Given the description of an element on the screen output the (x, y) to click on. 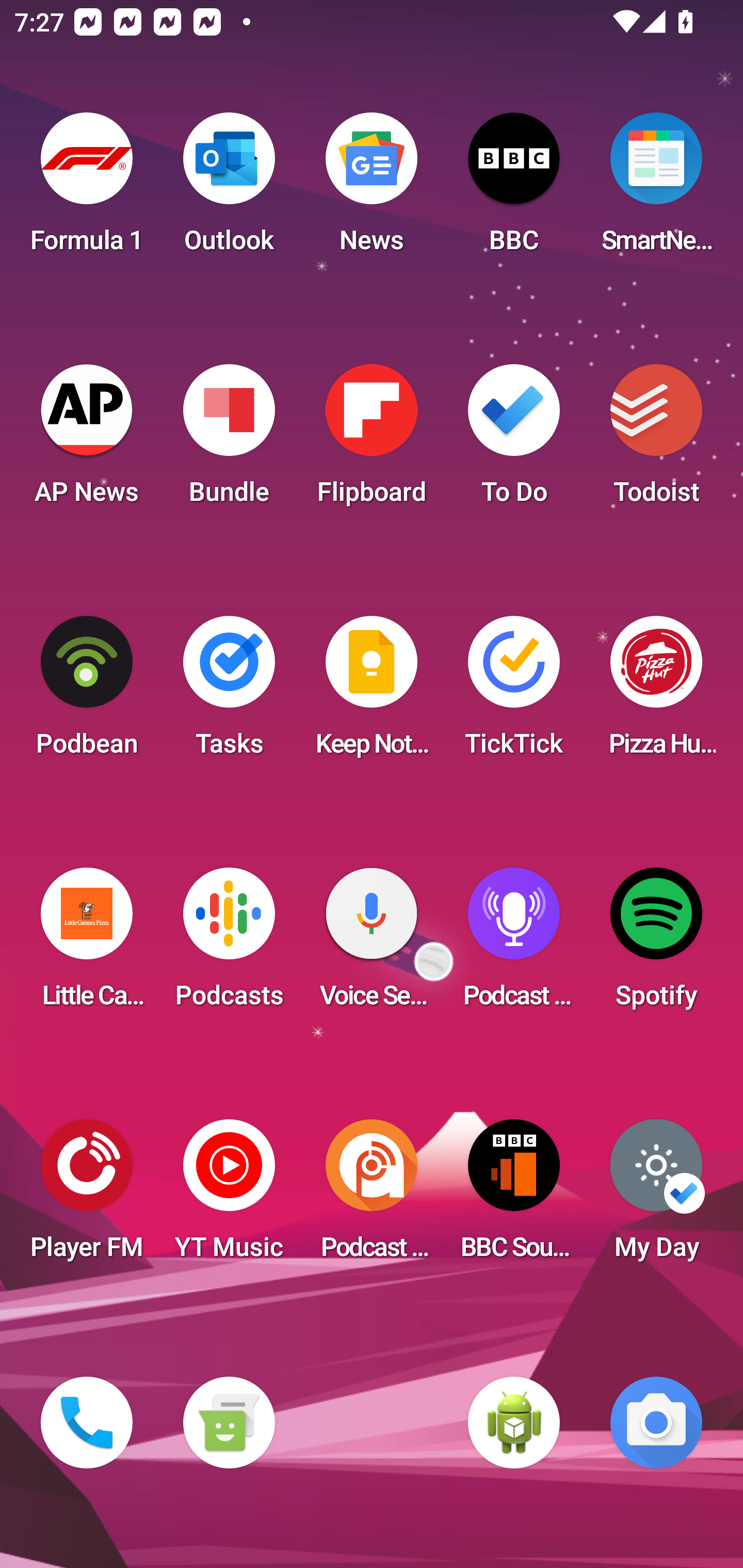
Formula 1 (86, 188)
Outlook (228, 188)
News (371, 188)
BBC (513, 188)
SmartNews (656, 188)
AP News (86, 440)
Bundle (228, 440)
Flipboard (371, 440)
To Do (513, 440)
Todoist (656, 440)
Podbean (86, 692)
Tasks (228, 692)
Keep Notes (371, 692)
TickTick (513, 692)
Pizza Hut HK & Macau (656, 692)
Little Caesars Pizza (86, 943)
Podcasts (228, 943)
Voice Search (371, 943)
Podcast Player (513, 943)
Spotify (656, 943)
Player FM (86, 1195)
YT Music (228, 1195)
Podcast Addict (371, 1195)
BBC Sounds (513, 1195)
My Day (656, 1195)
Phone (86, 1422)
Messaging (228, 1422)
WebView Browser Tester (513, 1422)
Camera (656, 1422)
